Given the description of an element on the screen output the (x, y) to click on. 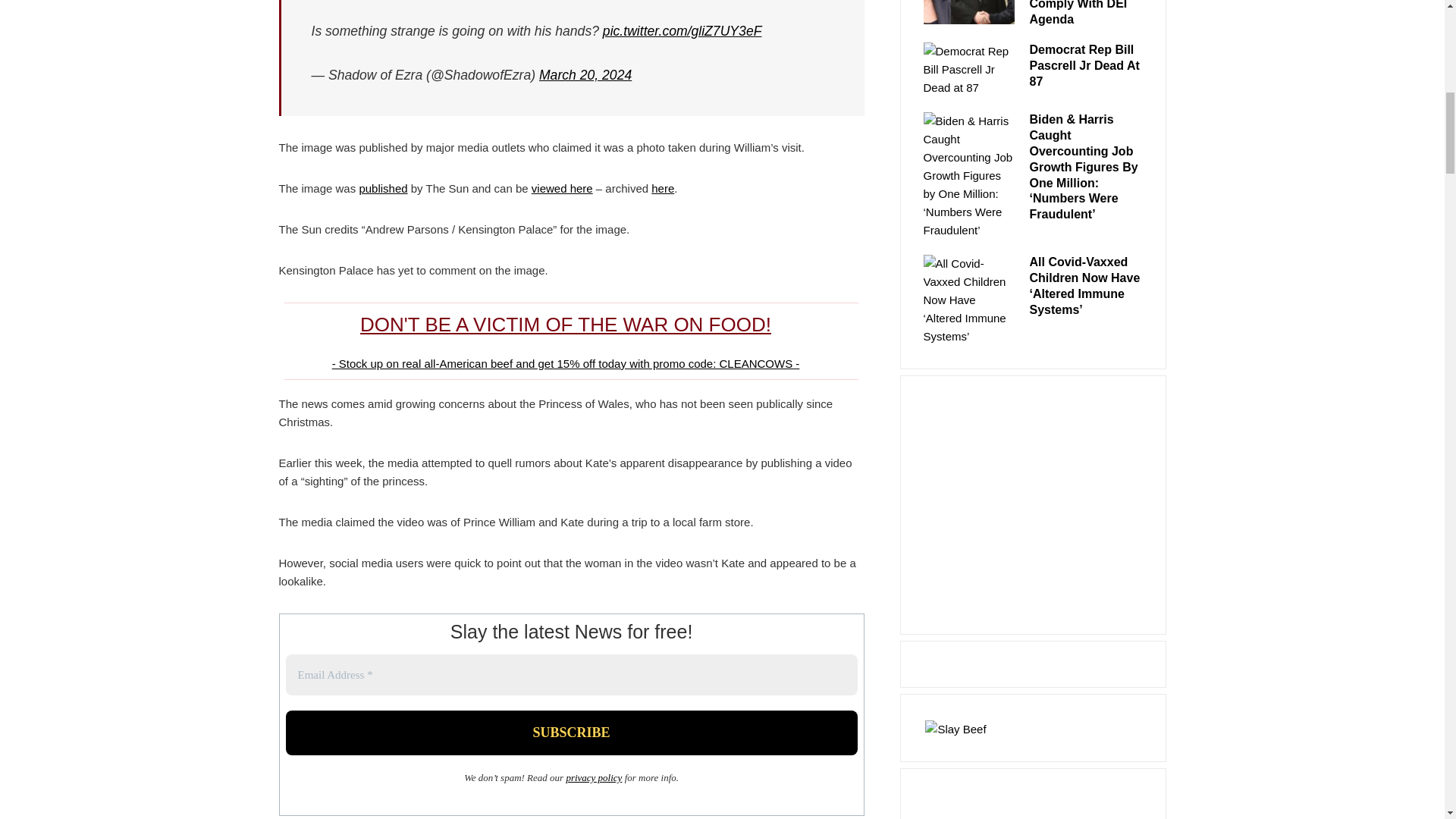
Email Address (571, 675)
SUBSCRIBE (571, 732)
published (382, 187)
privacy policy (593, 777)
here (662, 187)
viewed here (561, 187)
March 20, 2024 (584, 74)
SUBSCRIBE (571, 732)
DON'T BE A VICTIM OF THE WAR ON FOOD! (565, 323)
Get Slay Beef (955, 726)
